Given the description of an element on the screen output the (x, y) to click on. 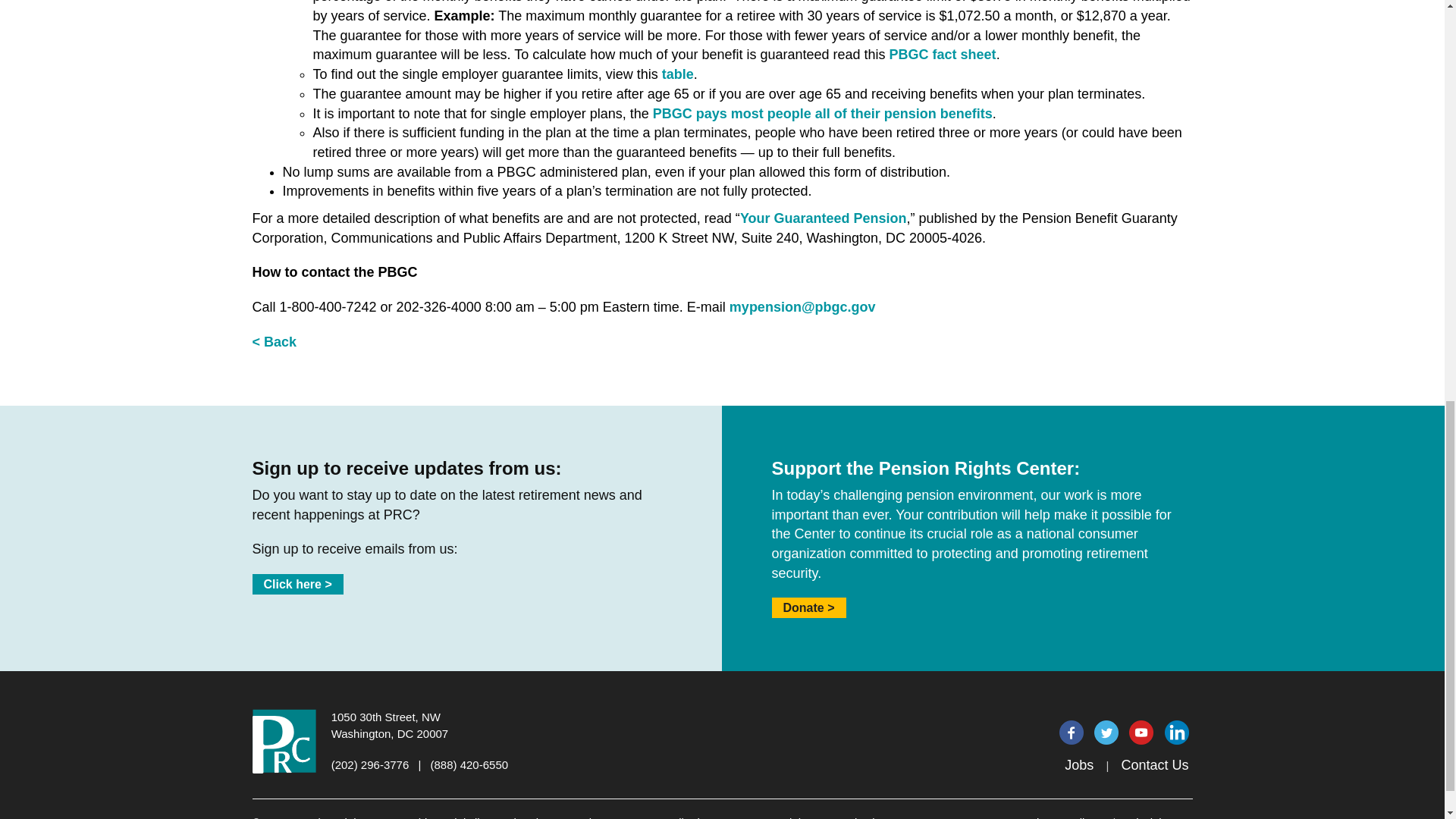
table (678, 73)
PBGC fact sheet (942, 54)
